Given the description of an element on the screen output the (x, y) to click on. 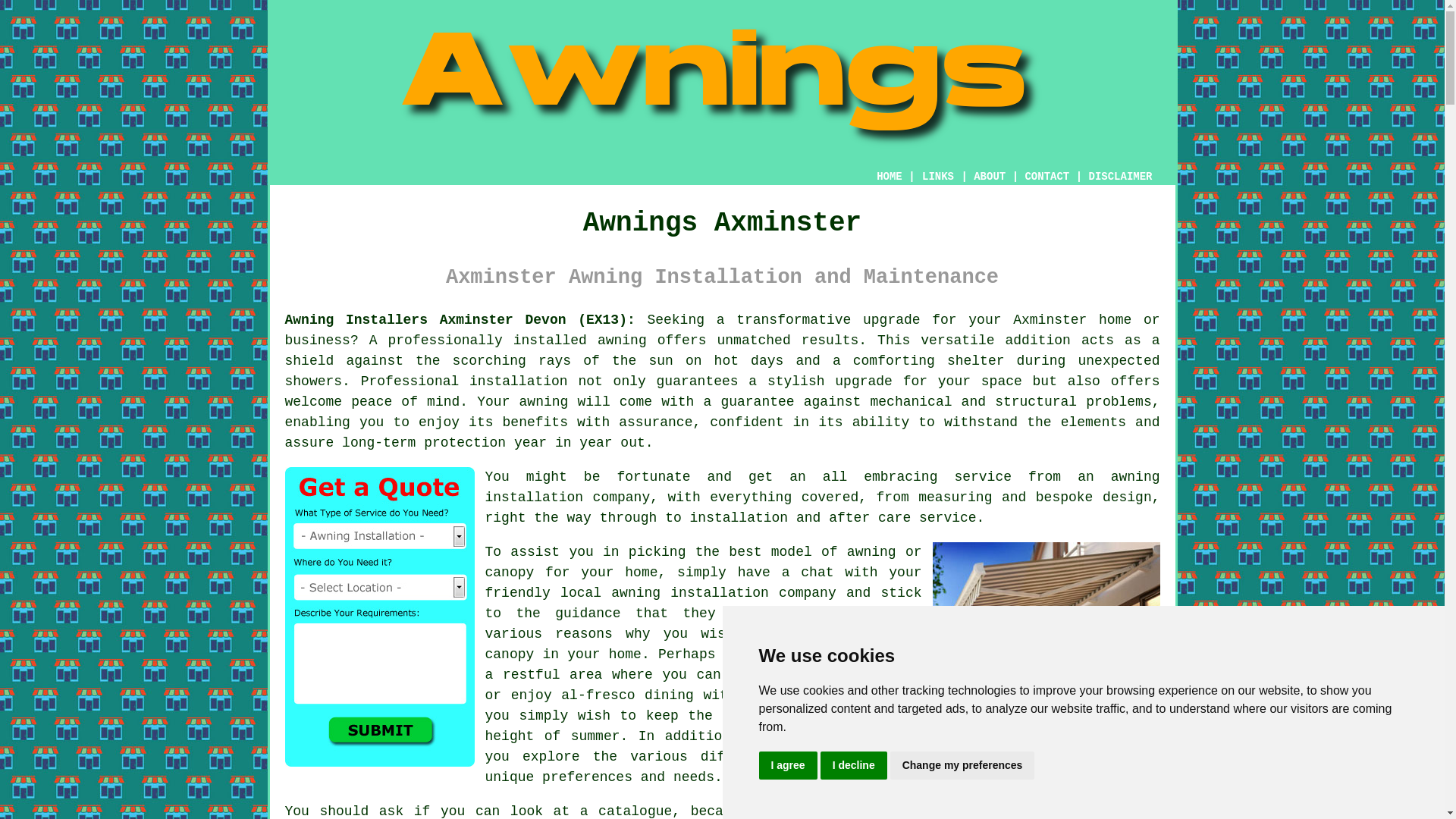
awning installation company (723, 592)
LINKS (938, 176)
I decline (853, 765)
I agree (787, 765)
HOME (889, 176)
Change my preferences (962, 765)
